Given the description of an element on the screen output the (x, y) to click on. 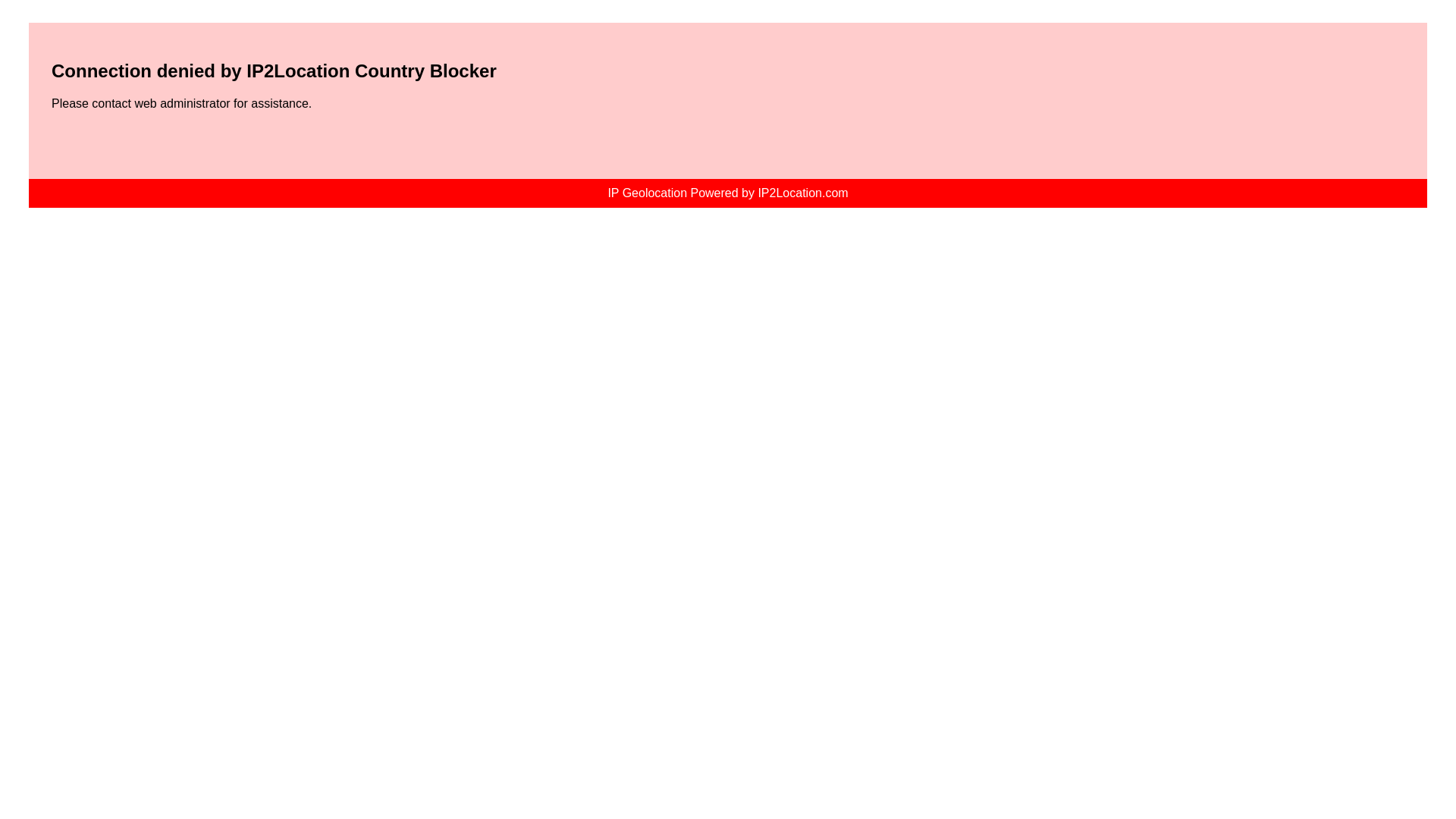
IP Geolocation Powered by IP2Location.com (727, 192)
